Given the description of an element on the screen output the (x, y) to click on. 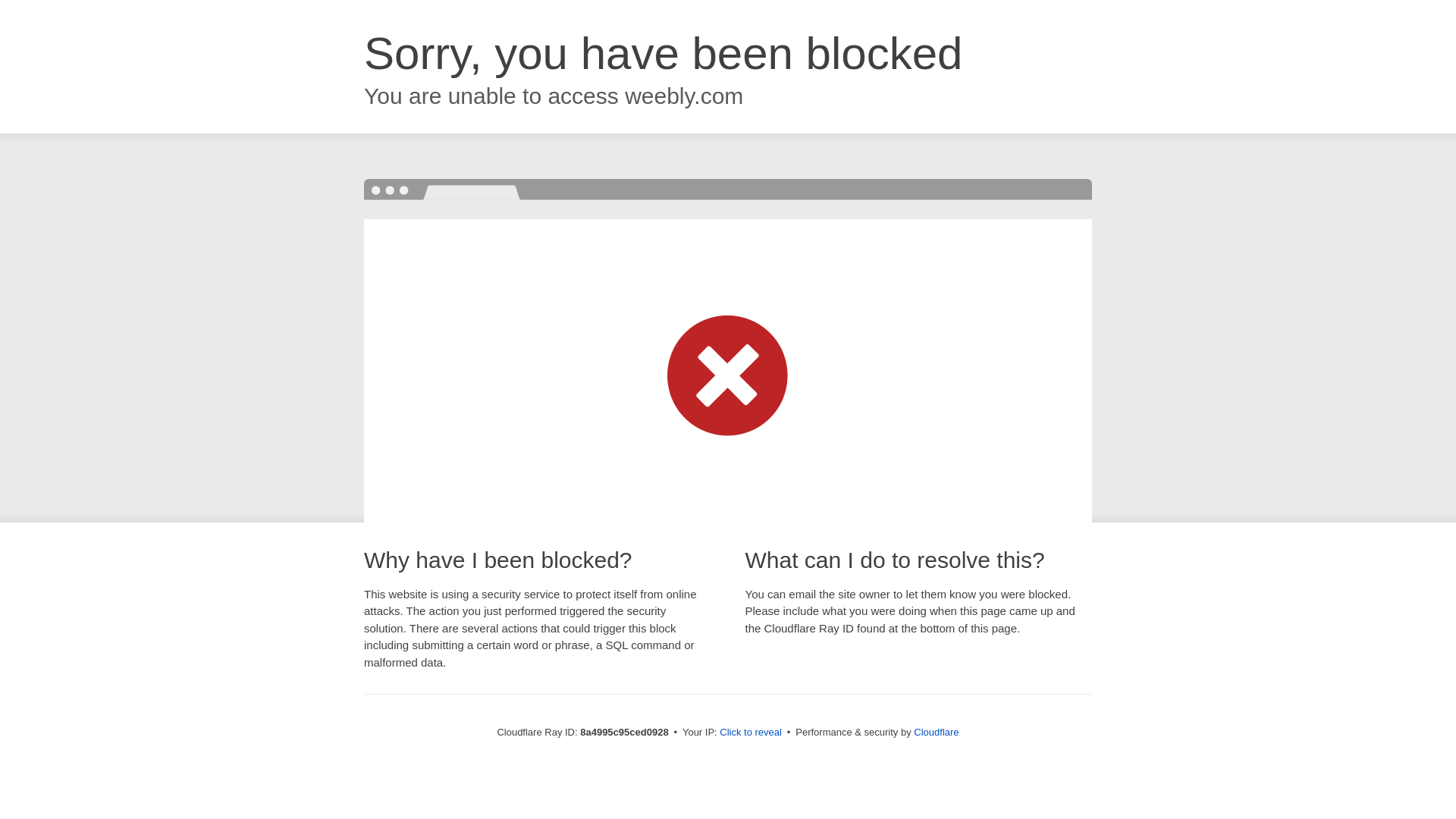
Cloudflare (936, 731)
Click to reveal (750, 732)
